Given the description of an element on the screen output the (x, y) to click on. 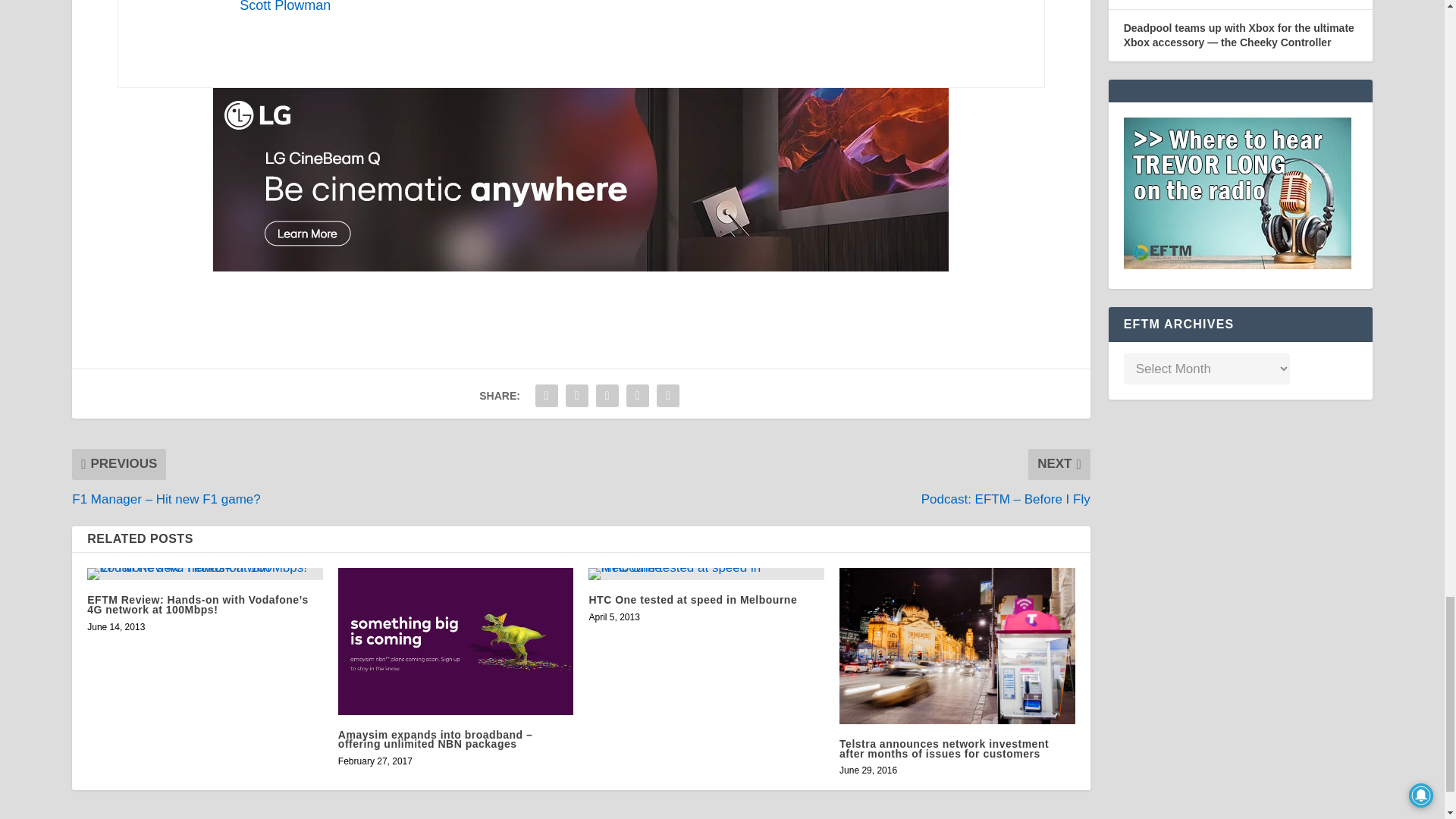
HTC One tested at speed in Melbourne (706, 573)
